Given the description of an element on the screen output the (x, y) to click on. 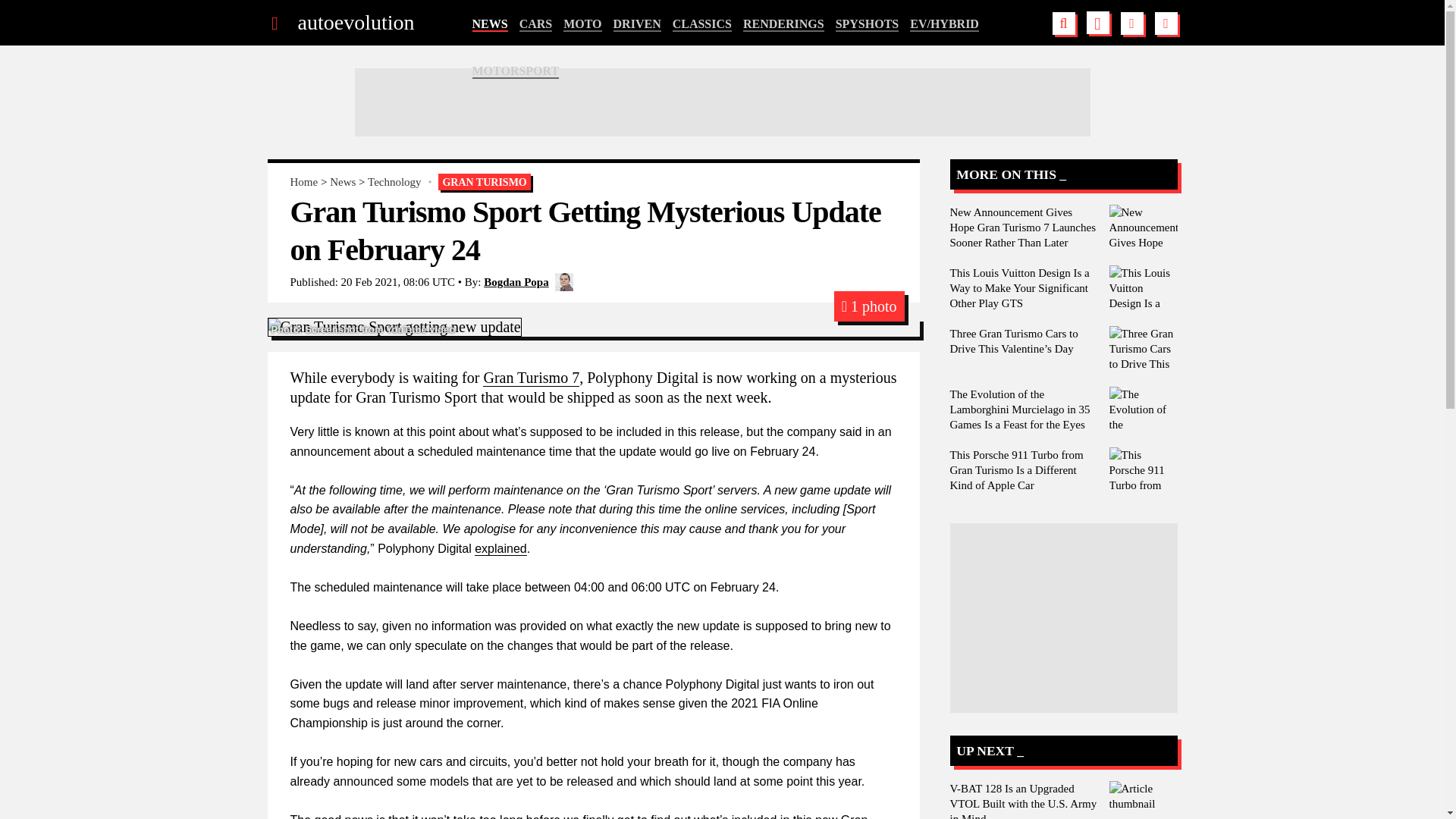
MOTORSPORT (515, 71)
NEWS (488, 24)
RENDERINGS (783, 24)
CARS (536, 24)
Home (303, 182)
MOTO (582, 24)
autoevolution (355, 22)
Technology (395, 182)
CLASSICS (702, 24)
SPYSHOTS (867, 24)
News (342, 182)
DRIVEN (636, 24)
autoevolution (355, 22)
